Given the description of an element on the screen output the (x, y) to click on. 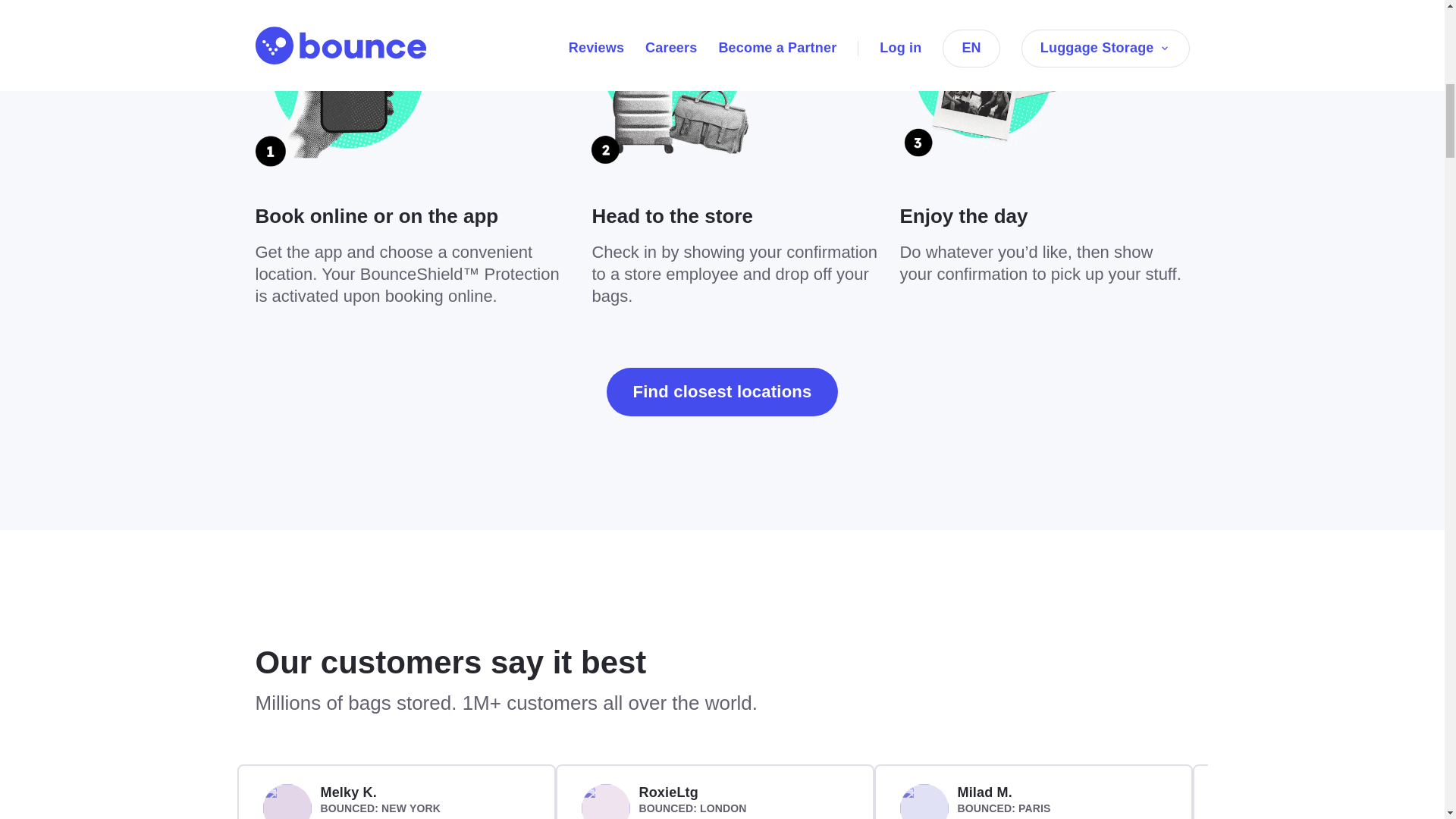
Find closest locations (722, 391)
